Given the description of an element on the screen output the (x, y) to click on. 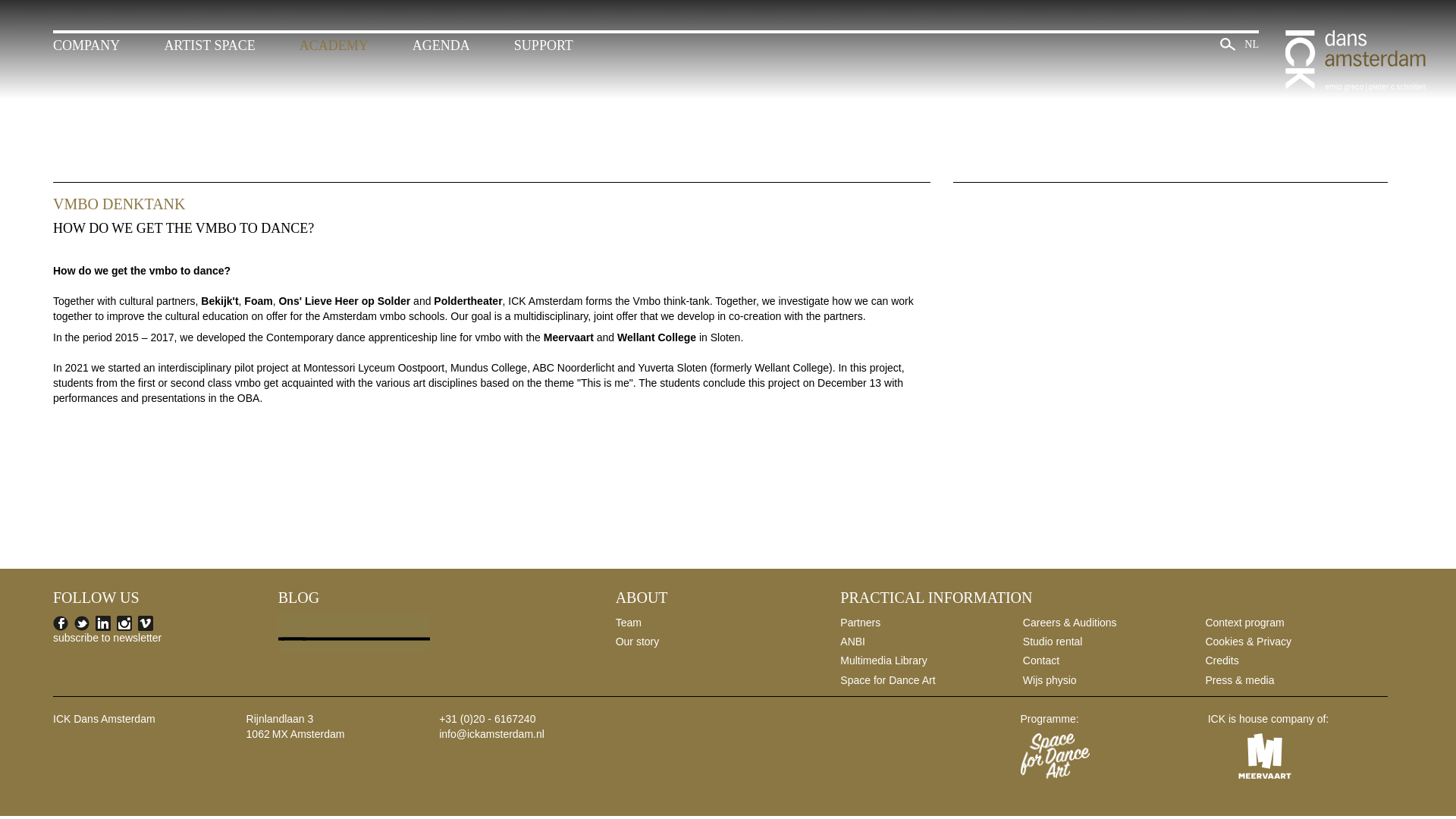
Studio rental (1053, 641)
BLOG (298, 597)
ANBI (852, 641)
Team (628, 622)
Multimedia Library (883, 660)
Wellant College (656, 337)
AGENDA (441, 45)
Ons' Lieve Heer op Solder (344, 300)
ACADEMY (333, 45)
Foam (258, 300)
